Given the description of an element on the screen output the (x, y) to click on. 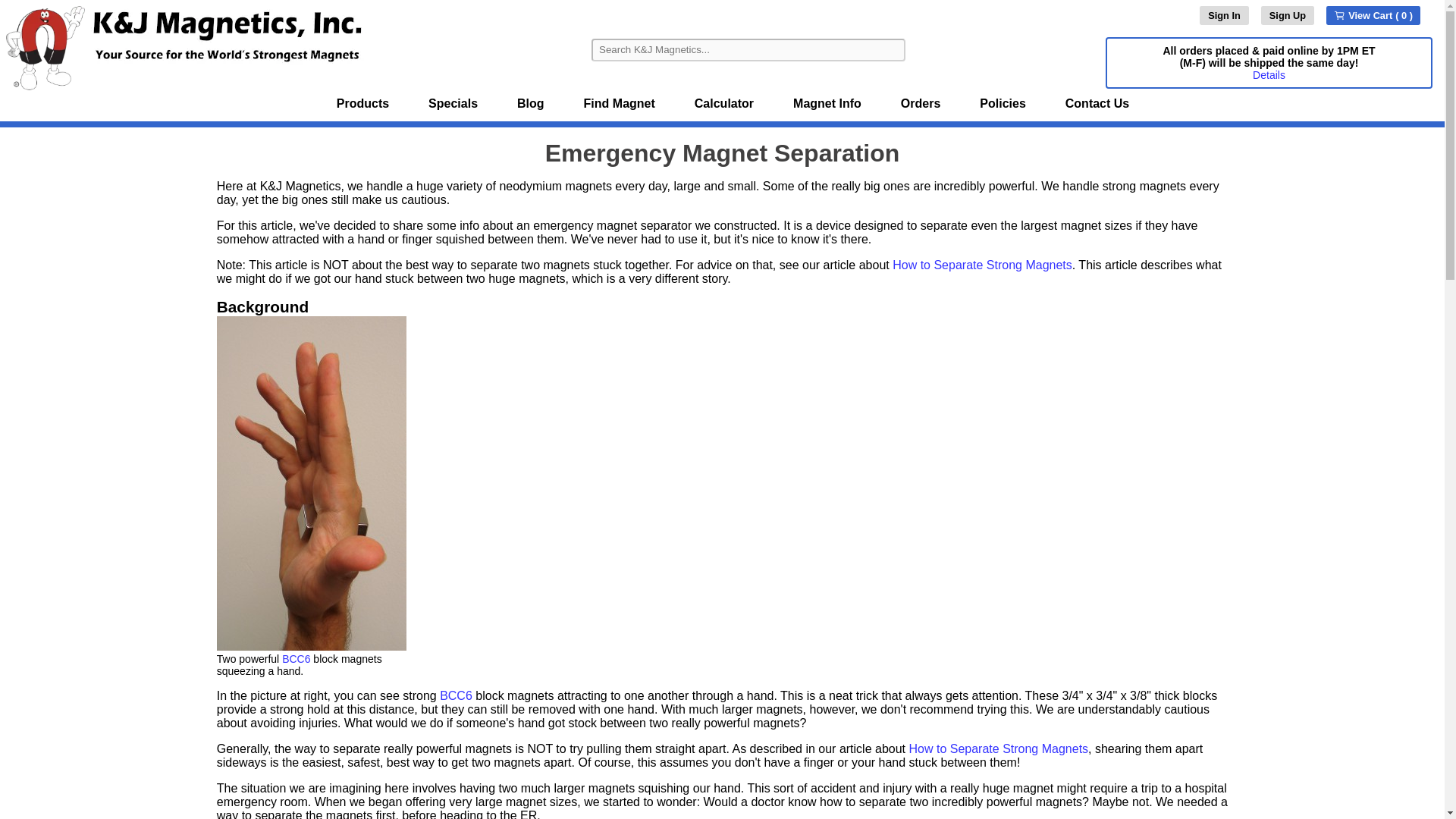
Sign In (1224, 15)
Details (1269, 74)
Sign Up (1287, 15)
Products (362, 103)
